Given the description of an element on the screen output the (x, y) to click on. 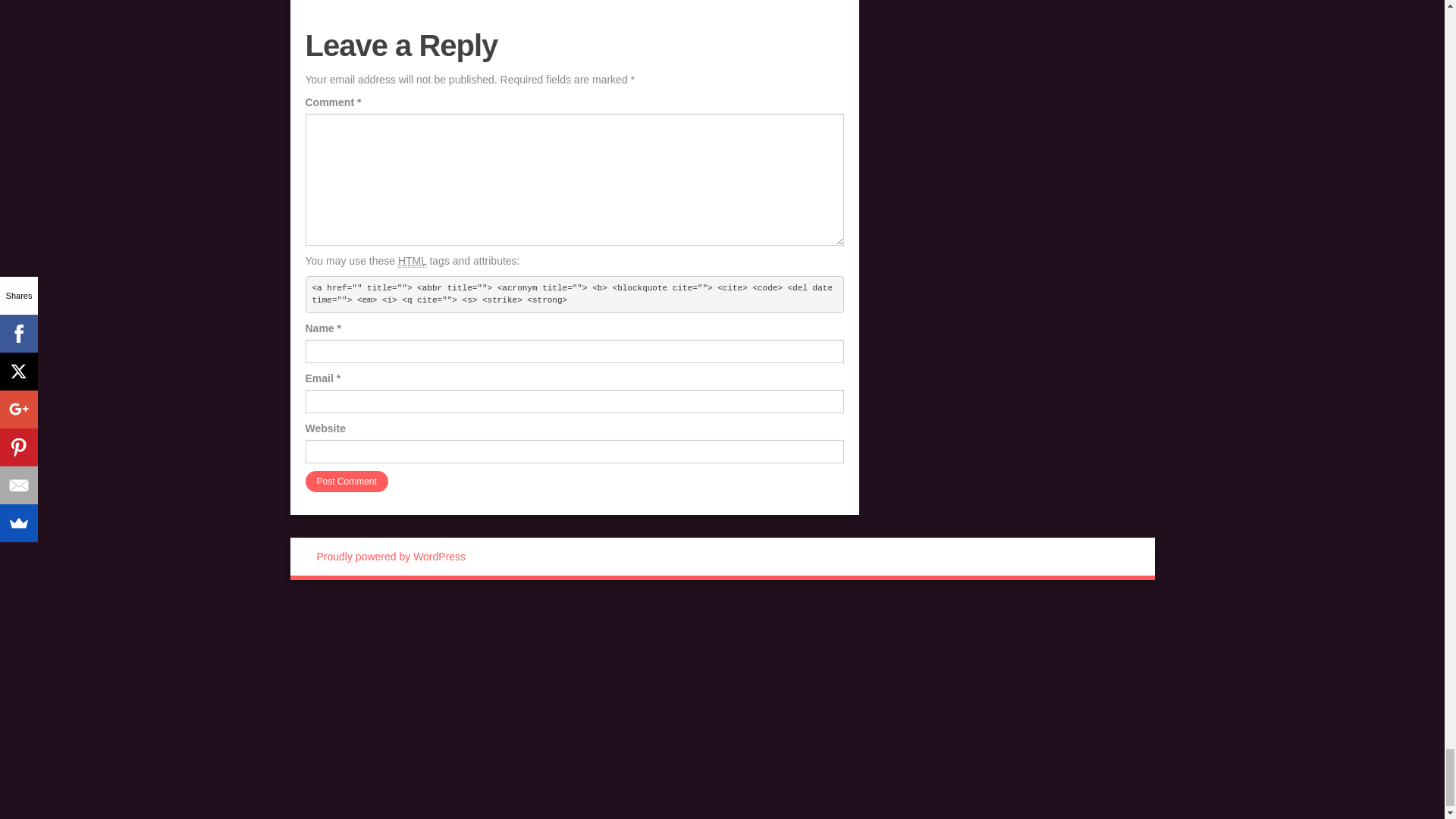
HyperText Markup Language (411, 260)
Post Comment (345, 481)
